Given the description of an element on the screen output the (x, y) to click on. 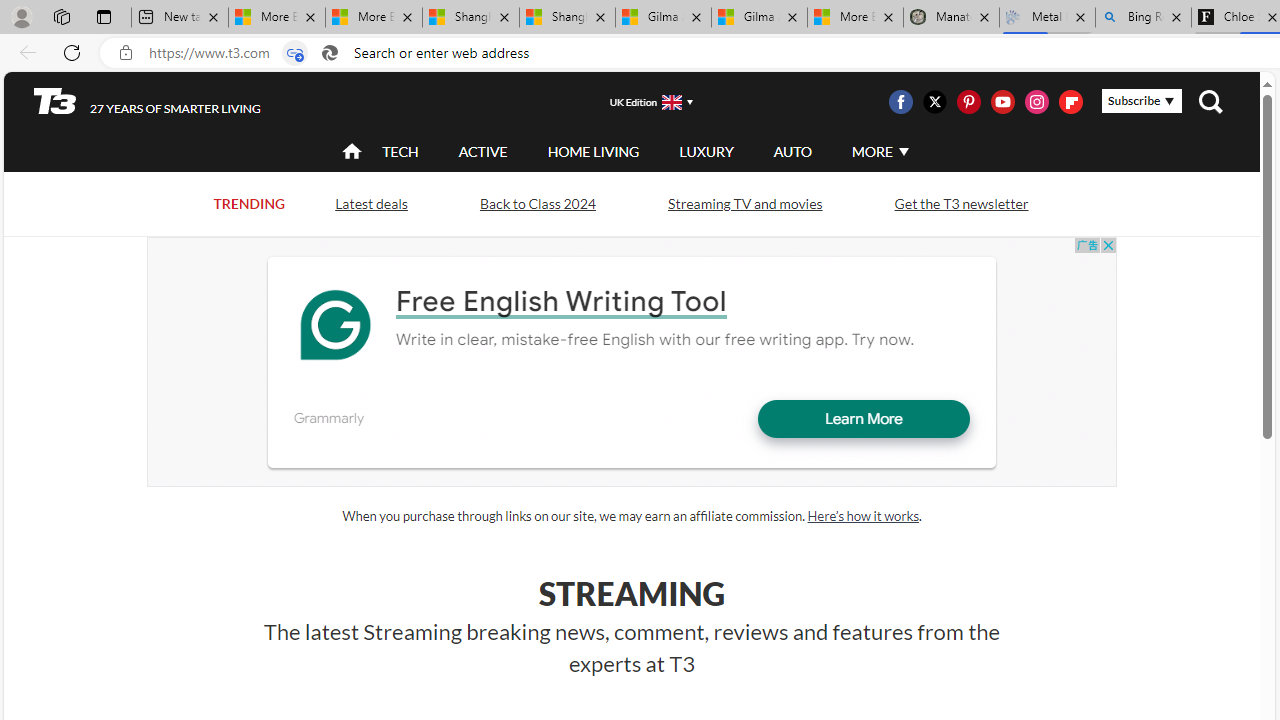
HOME LIVING (593, 151)
T3 (55, 100)
Subscribe (1141, 101)
Class: icon-svg (1070, 101)
Latest deals (370, 204)
Class: svg-arrow-down (903, 151)
ACTIVE (483, 151)
Latest deals (370, 202)
Gilma and Hector both pose tropical trouble for Hawaii (759, 17)
TECH (399, 151)
